Given the description of an element on the screen output the (x, y) to click on. 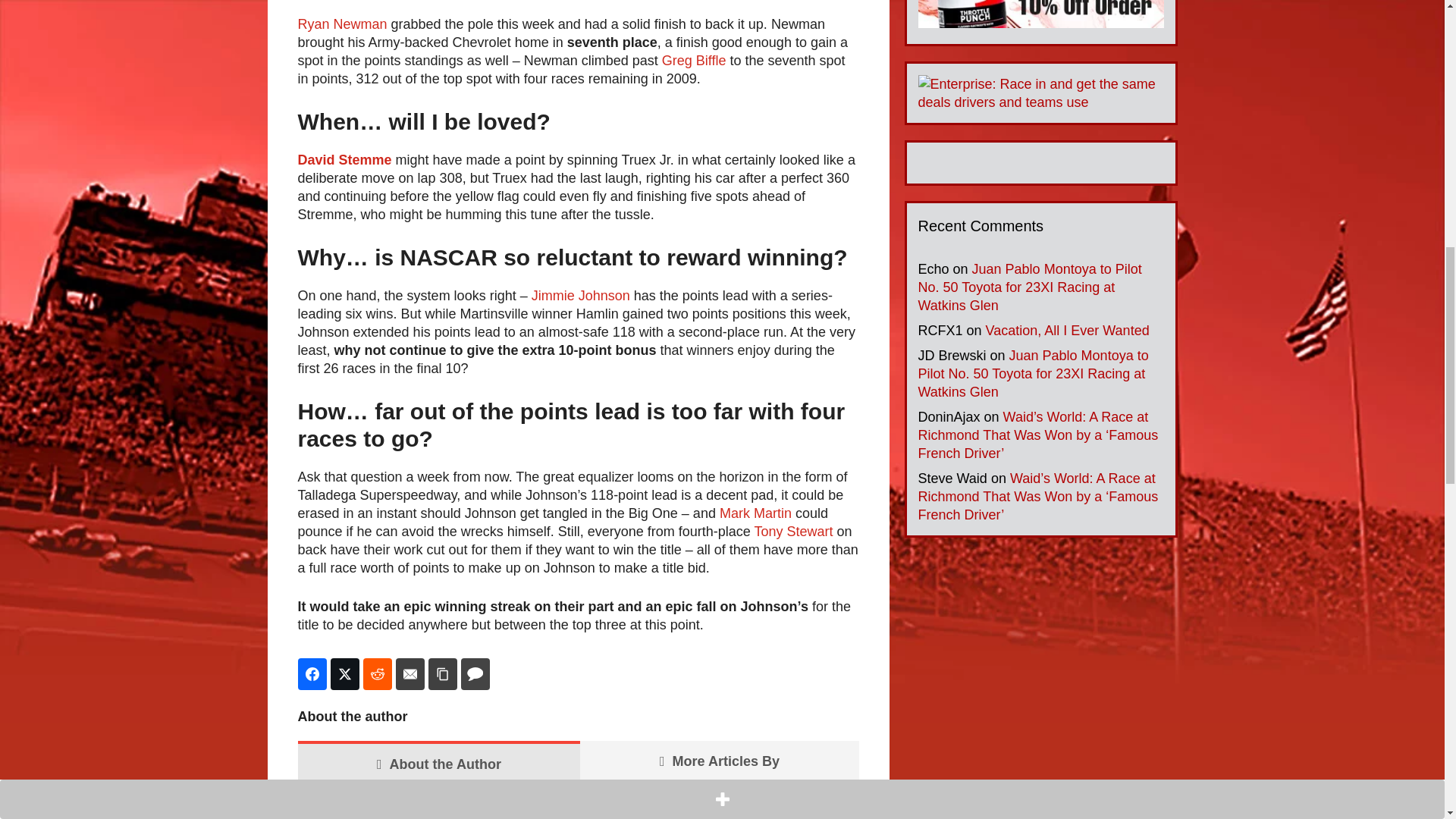
Share on Facebook (311, 674)
Jimmie Johnson (580, 295)
Share on Reddit (376, 674)
David Stemme (344, 159)
Scroll back to top (1406, 720)
Greg Biffle (694, 60)
Share on Twitter (344, 674)
Share on Copy Link (442, 674)
Share on Comments (475, 674)
Ryan Newman (342, 23)
